Given the description of an element on the screen output the (x, y) to click on. 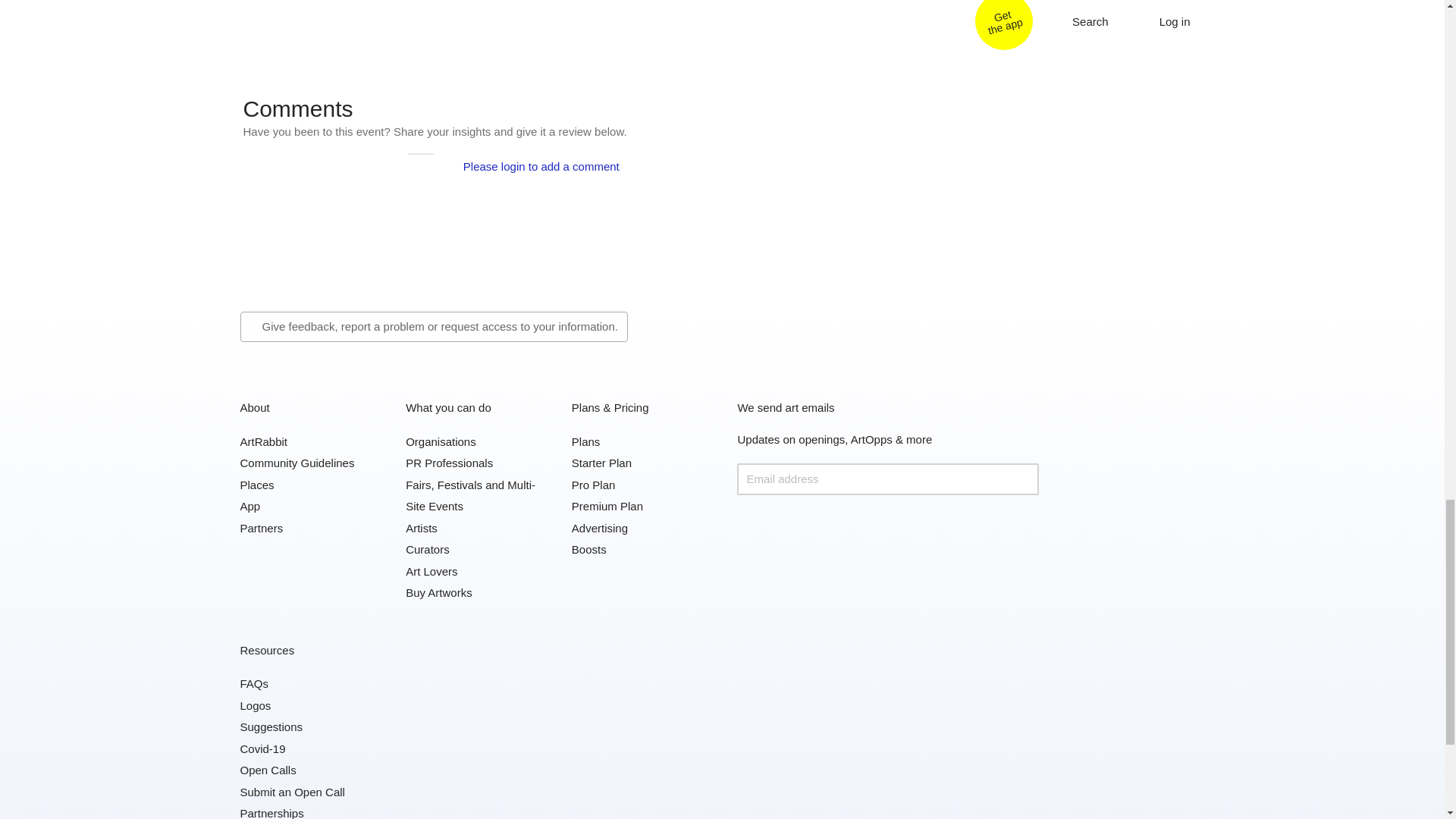
Steph Goodger (534, 2)
submit (1021, 479)
Julian Rowe (342, 2)
